Given the description of an element on the screen output the (x, y) to click on. 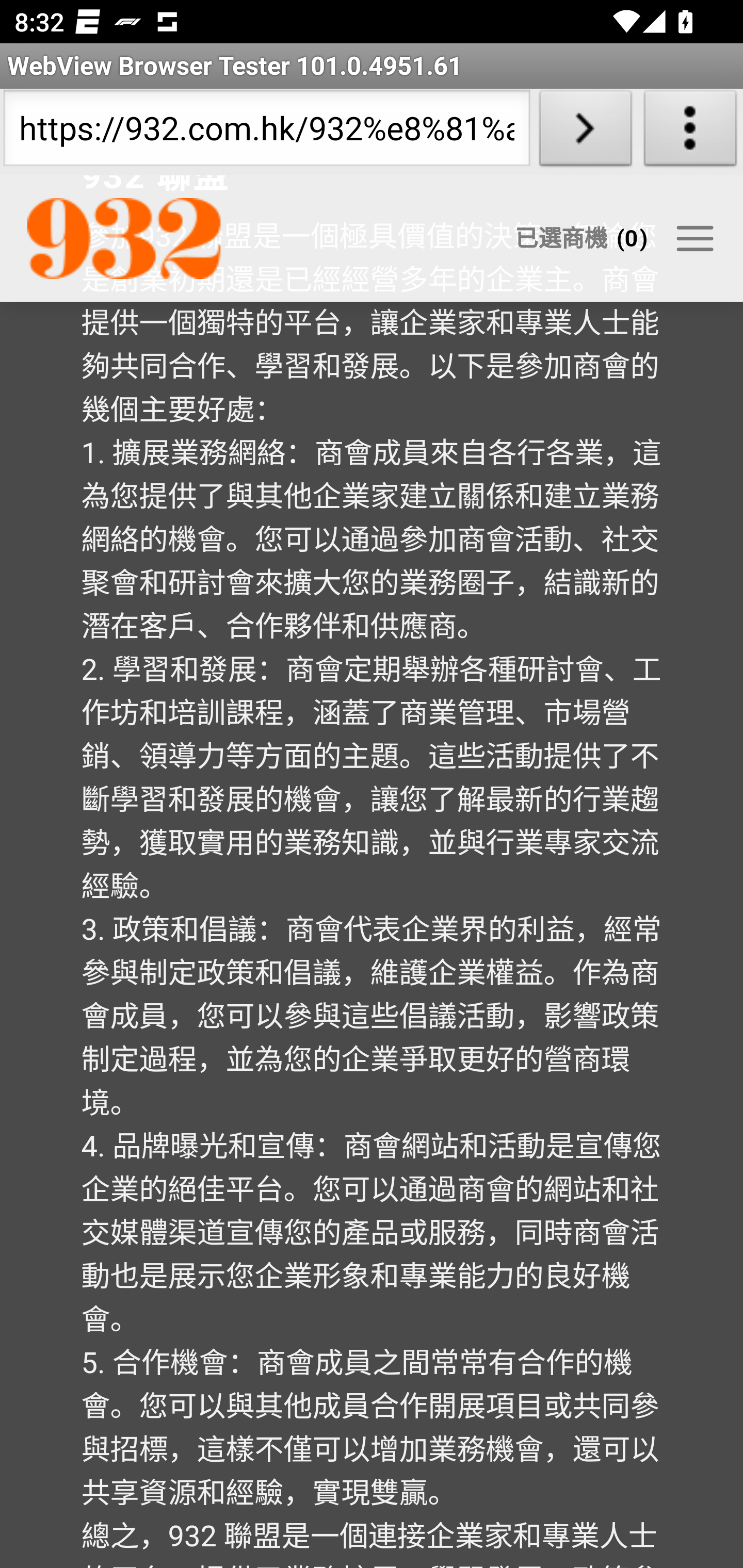
https://932.com.hk/932%e8%81%af%e7%9b%9f/ (266, 132)
Load URL (585, 132)
About WebView (690, 132)
